Given the description of an element on the screen output the (x, y) to click on. 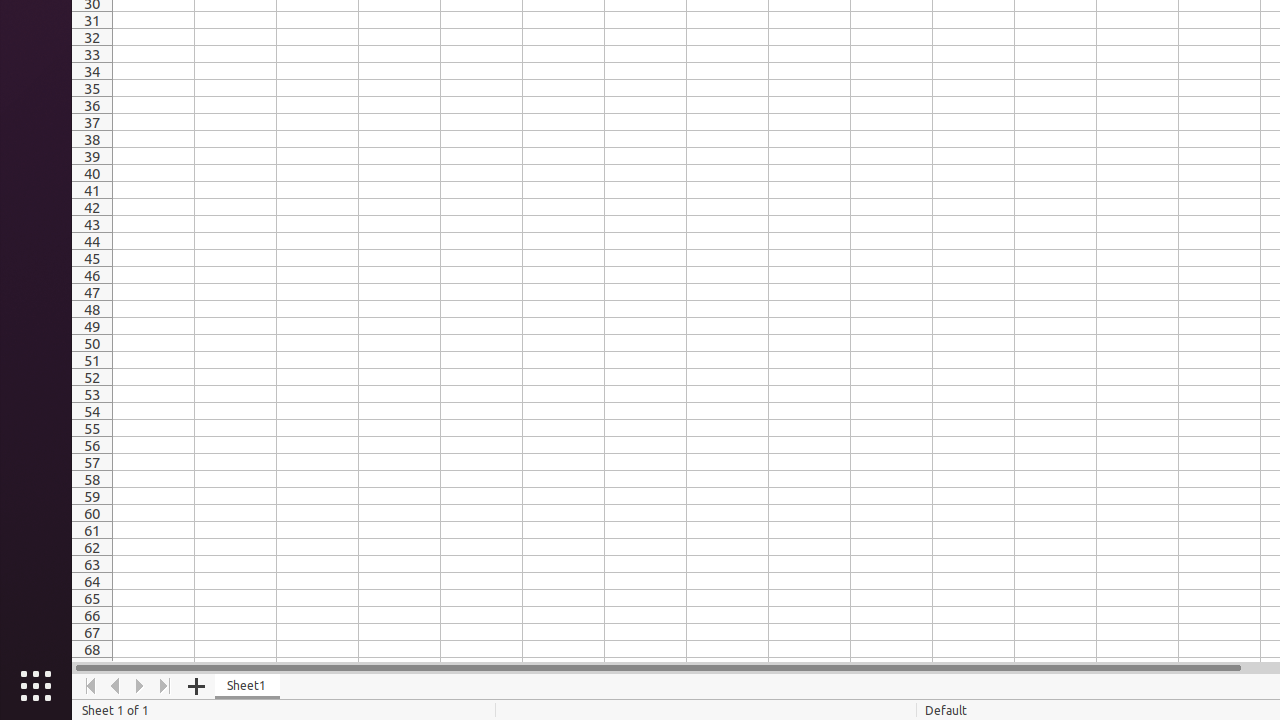
Move Left Element type: push-button (115, 686)
